Given the description of an element on the screen output the (x, y) to click on. 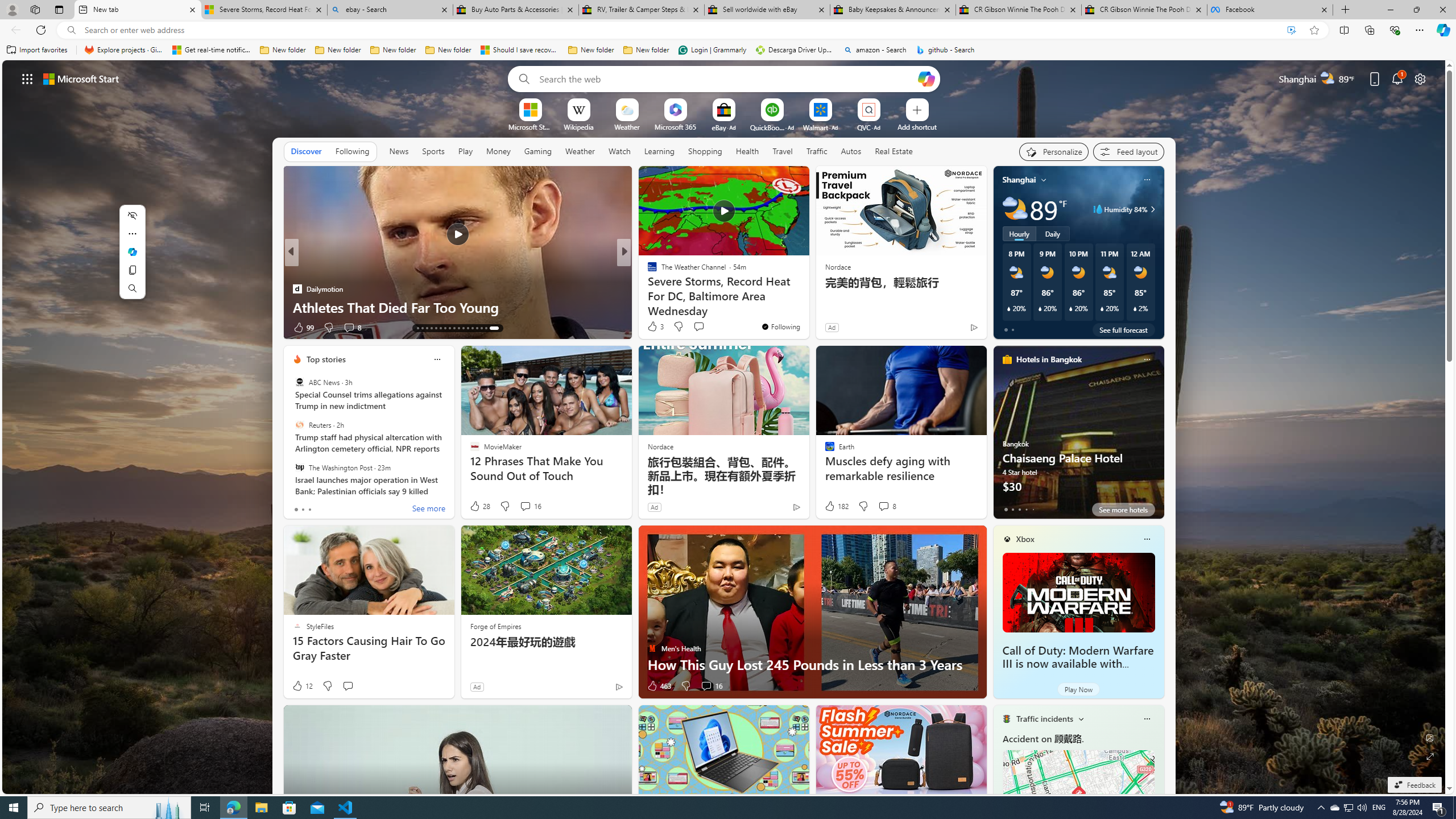
Travel (782, 151)
Real Estate (893, 151)
View comments 1 Comment (703, 327)
AutomationID: tab-17 (442, 328)
Nordace Personal Offers (807, 307)
Autos (850, 151)
More actions (132, 233)
